Given the description of an element on the screen output the (x, y) to click on. 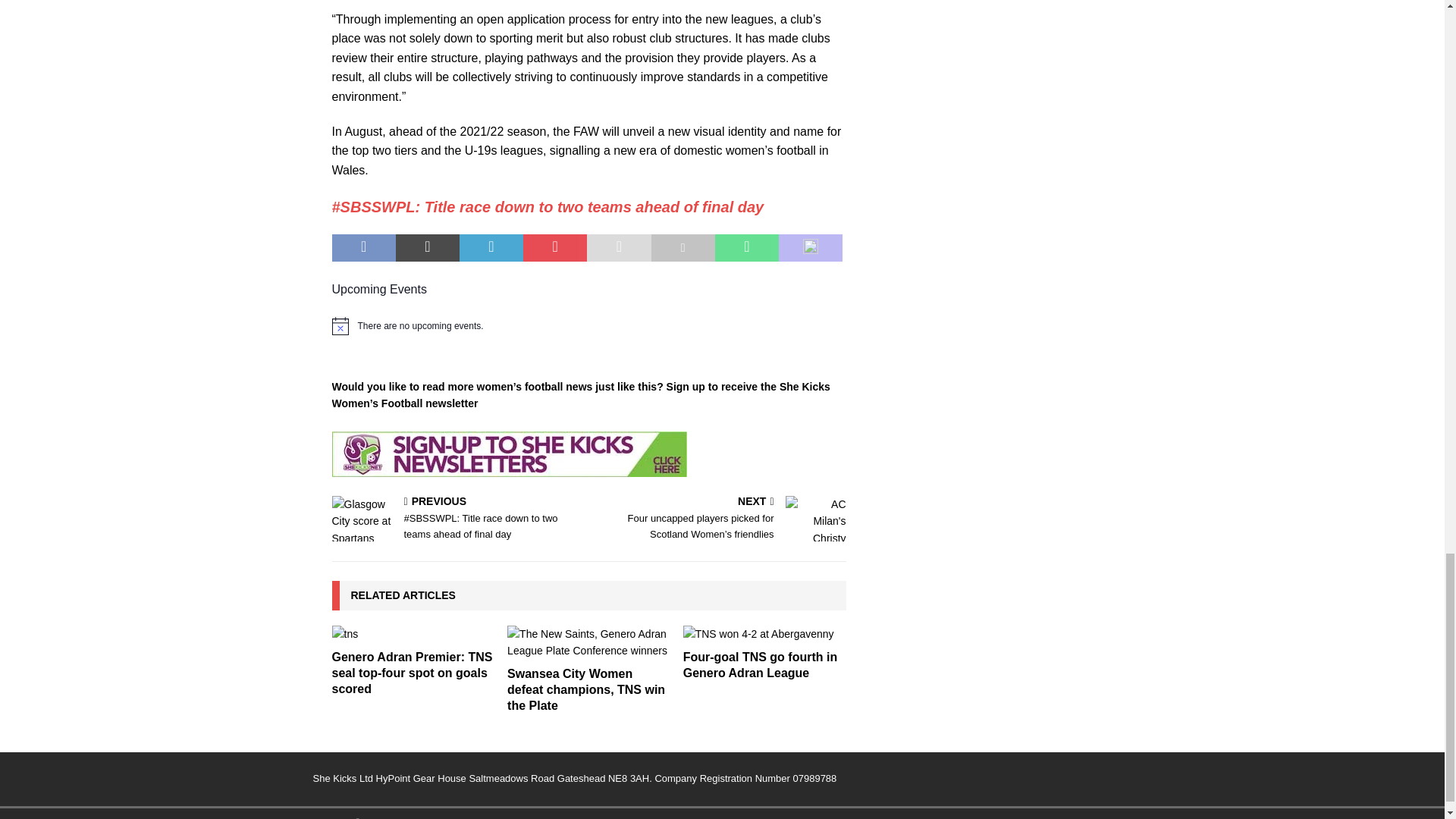
Print this article (682, 247)
Tweet This Post (428, 247)
Send this article to a friend (618, 247)
Share on Facebook (363, 247)
Share on LinkedIn (491, 247)
Share on Whatsapp (746, 247)
Pin This Post (554, 247)
